Given the description of an element on the screen output the (x, y) to click on. 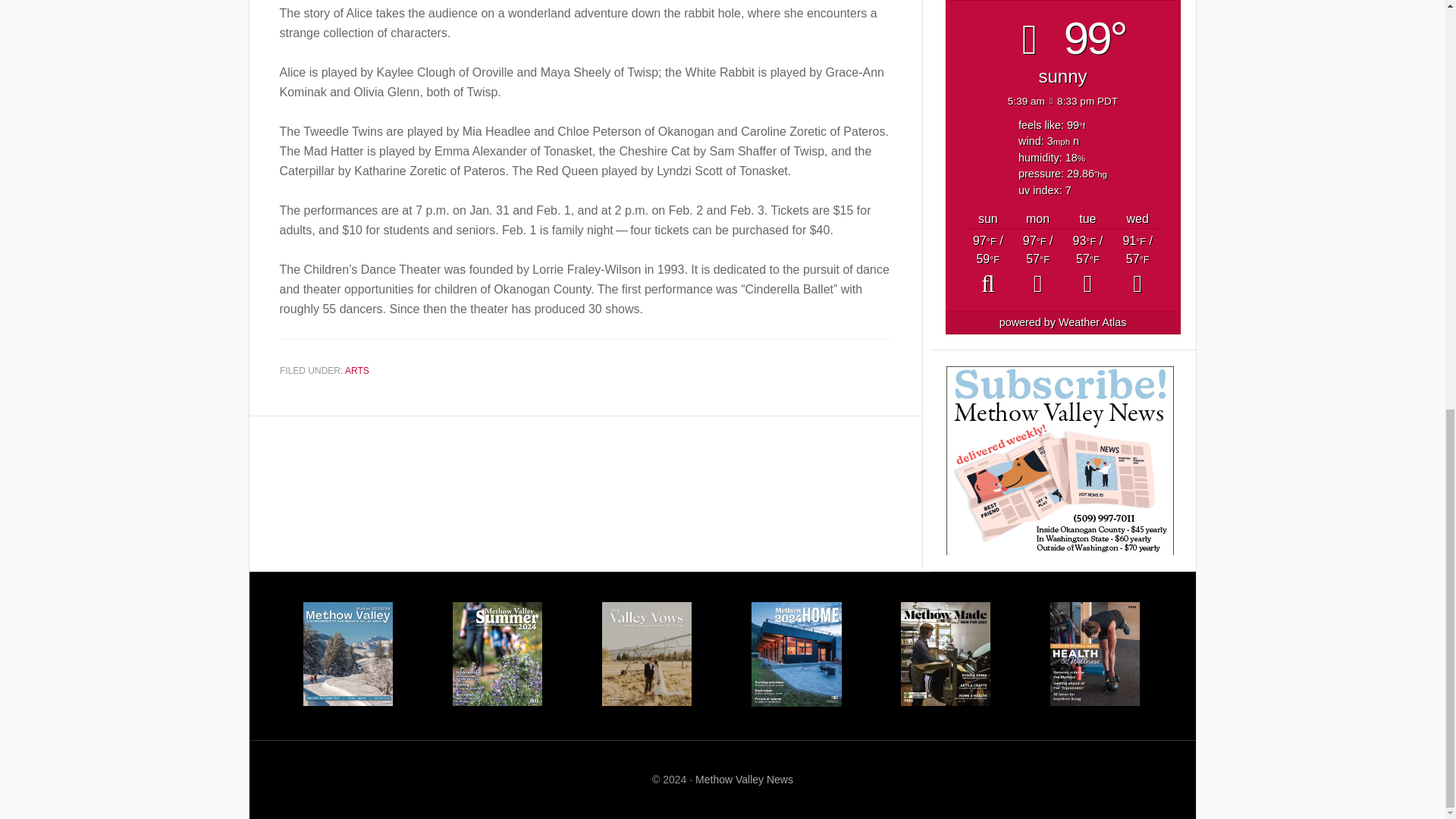
Sunny (1037, 265)
Mostly Sunny (1087, 265)
Mostly Sunny (1136, 265)
Partly Cloudy (987, 265)
